Given the description of an element on the screen output the (x, y) to click on. 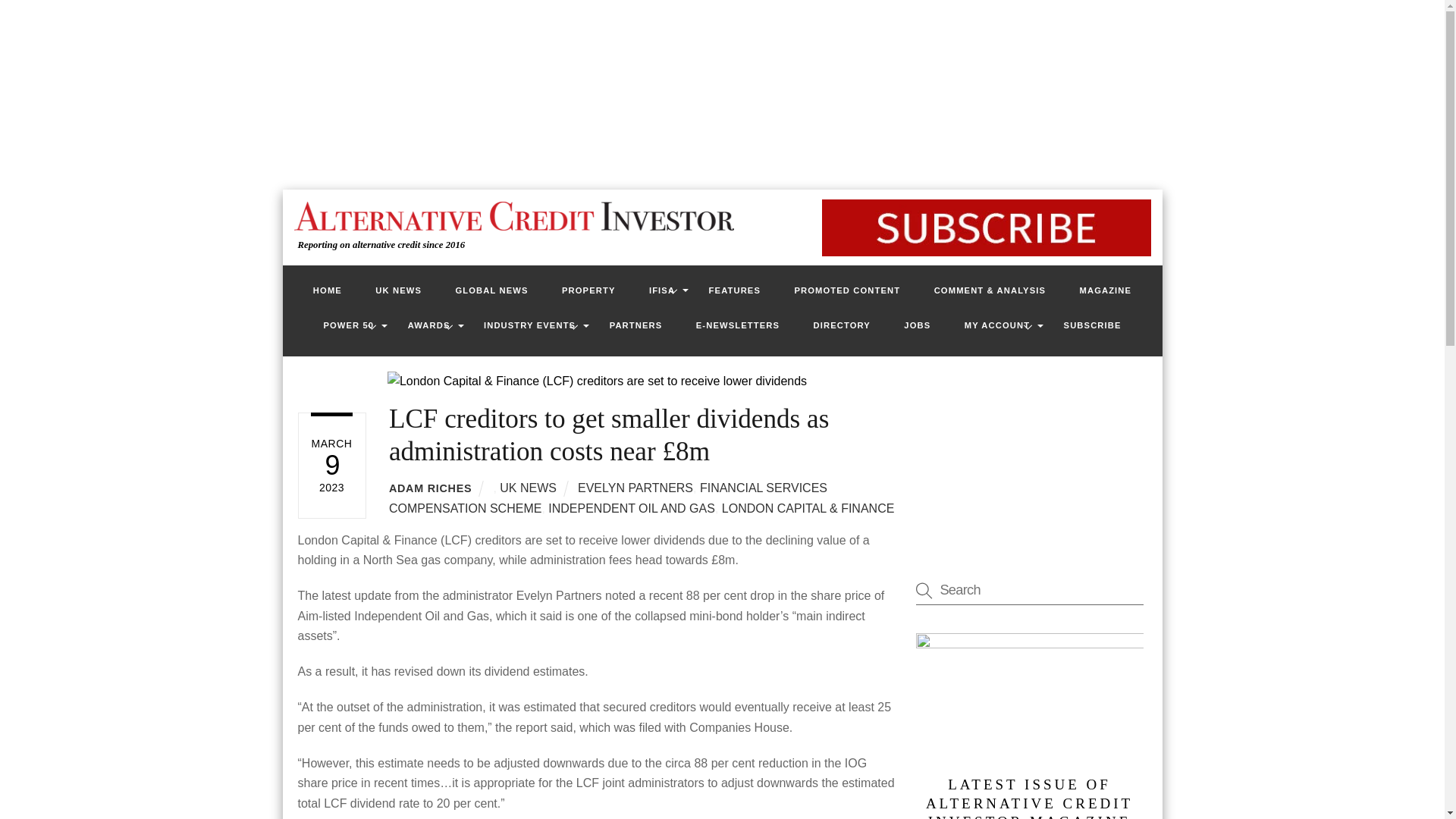
PROMOTED CONTENT (846, 289)
INDUSTRY EVENTS (529, 325)
GLOBAL NEWS (491, 289)
Search (1028, 590)
JOBS (916, 325)
alternative-credit-investor-logo (513, 215)
MY ACCOUNT (997, 325)
MAGAZINE (1105, 289)
SUBSCRIBE (1092, 325)
IFISA (661, 289)
Alternative Credit Investor (509, 215)
E-NEWSLETTERS (737, 325)
HOME (327, 289)
AWARDS (429, 325)
PARTNERS (636, 325)
